Given the description of an element on the screen output the (x, y) to click on. 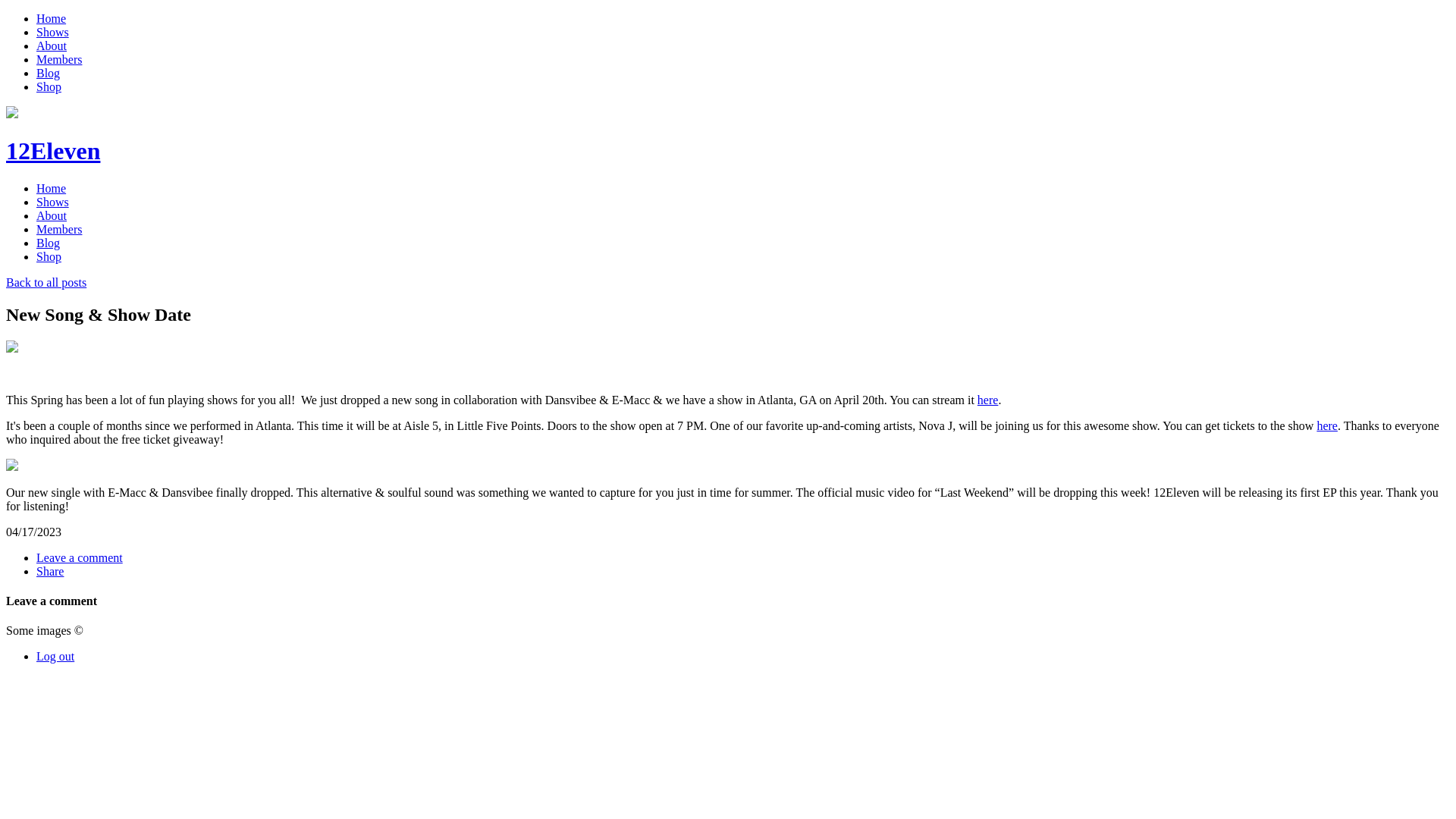
. Element type: text (999, 399)
Back to all posts Element type: text (46, 282)
Members Element type: text (58, 59)
About Element type: text (51, 215)
. Element type: text (1338, 425)
Members Element type: text (58, 228)
Shows Element type: text (52, 201)
Shows Element type: text (52, 31)
Share Element type: text (49, 570)
Blog Element type: text (47, 72)
Home Element type: text (50, 188)
Shop Element type: text (48, 256)
12Eleven Element type: text (53, 150)
Home Element type: text (50, 18)
Shop Element type: text (48, 86)
Log out Element type: text (55, 655)
here Element type: text (987, 399)
here Element type: text (1326, 425)
Blog Element type: text (47, 242)
Leave a comment Element type: text (79, 557)
About Element type: text (51, 45)
